Given the description of an element on the screen output the (x, y) to click on. 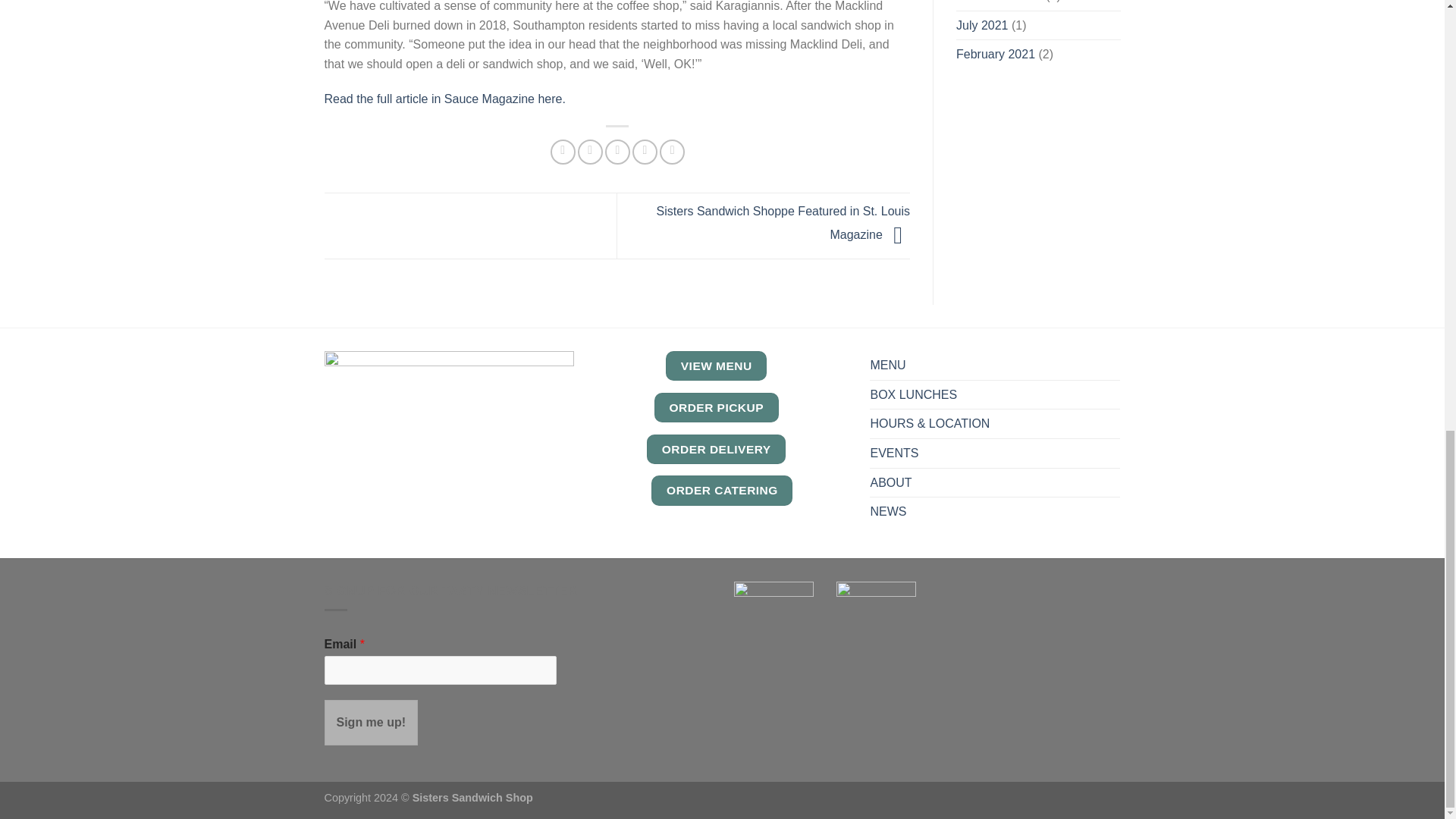
Sisters Sandwich Shoppe Featured in St. Louis Magazine (783, 222)
Email to a Friend (617, 151)
Share on Facebook (562, 151)
Share on Twitter (590, 151)
Pin on Pinterest (644, 151)
Read the full article in Sauce Magazine here. (445, 98)
Share on LinkedIn (671, 151)
